Given the description of an element on the screen output the (x, y) to click on. 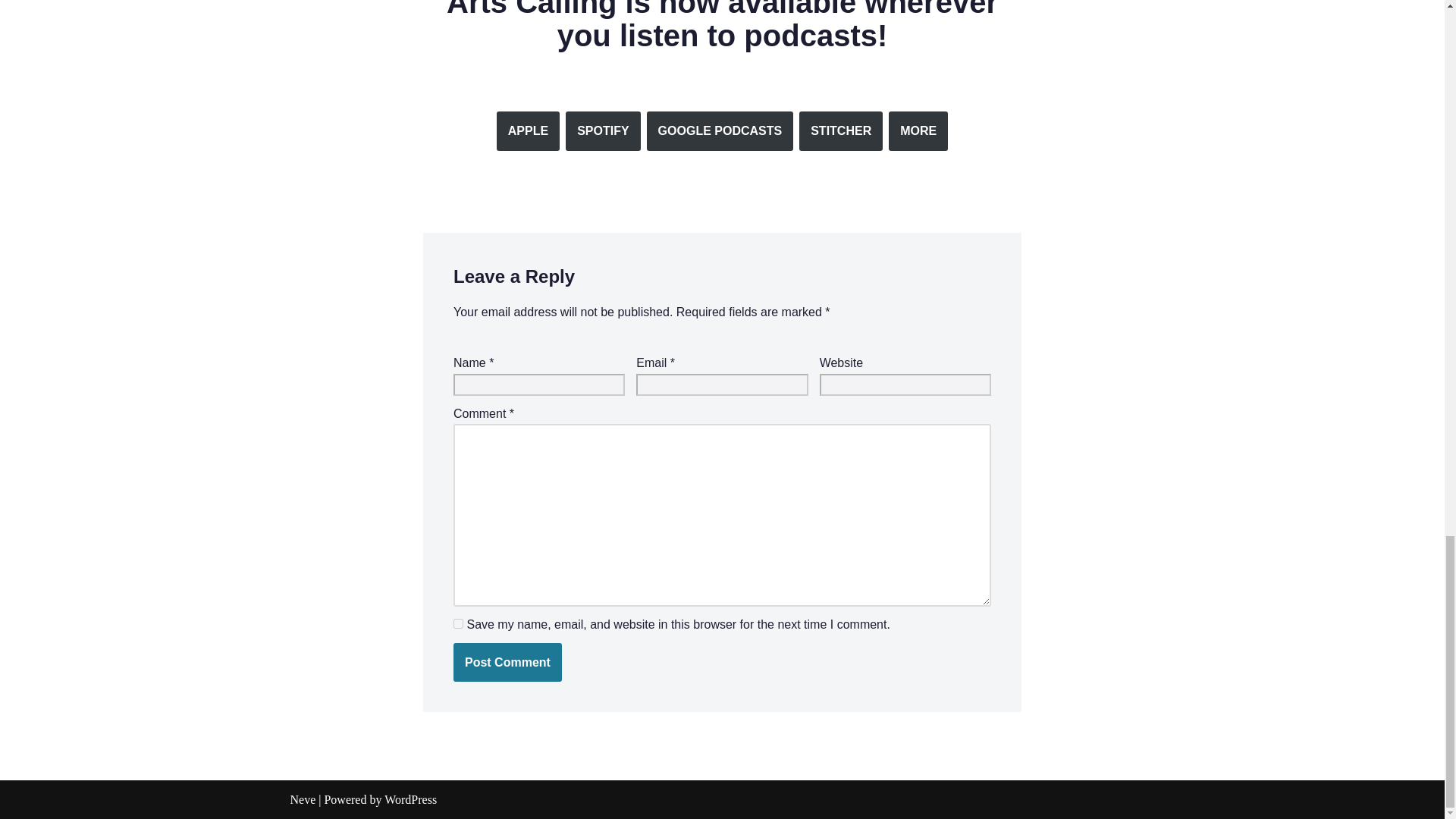
GOOGLE PODCASTS (719, 130)
STITCHER (840, 130)
SPOTIFY (603, 130)
MORE (917, 130)
Post Comment (507, 662)
APPLE (527, 130)
yes (457, 623)
WordPress (410, 799)
Neve (302, 799)
Post Comment (507, 662)
